Given the description of an element on the screen output the (x, y) to click on. 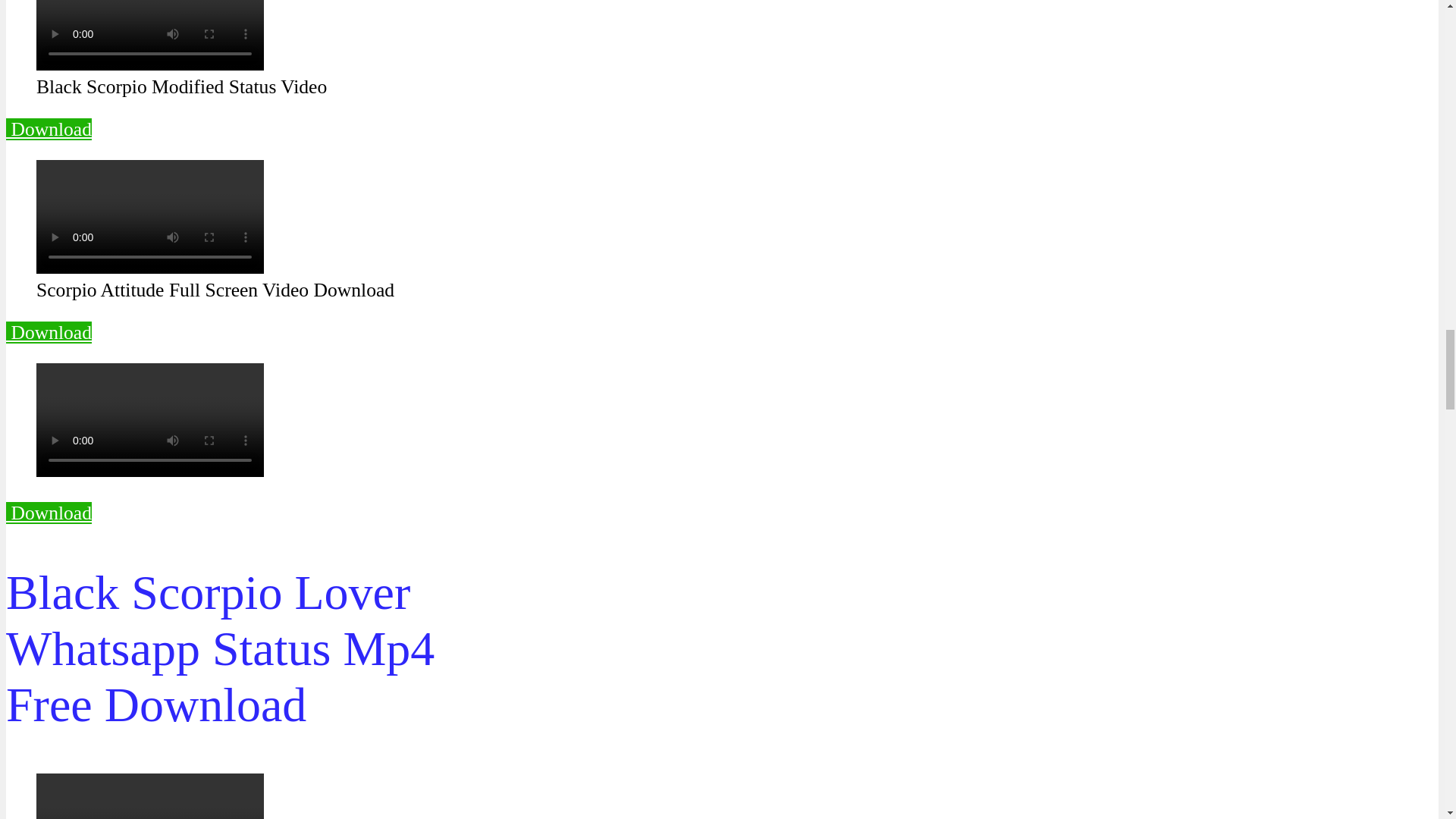
 Download (48, 128)
 Download (48, 332)
 Download (48, 513)
